Given the description of an element on the screen output the (x, y) to click on. 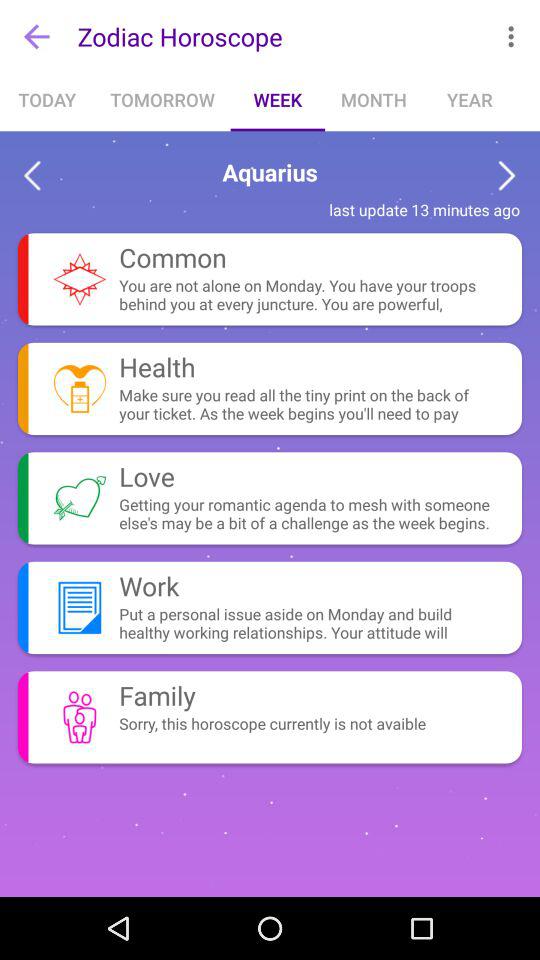
select the item to the left of zodiac horoscope item (36, 36)
